Given the description of an element on the screen output the (x, y) to click on. 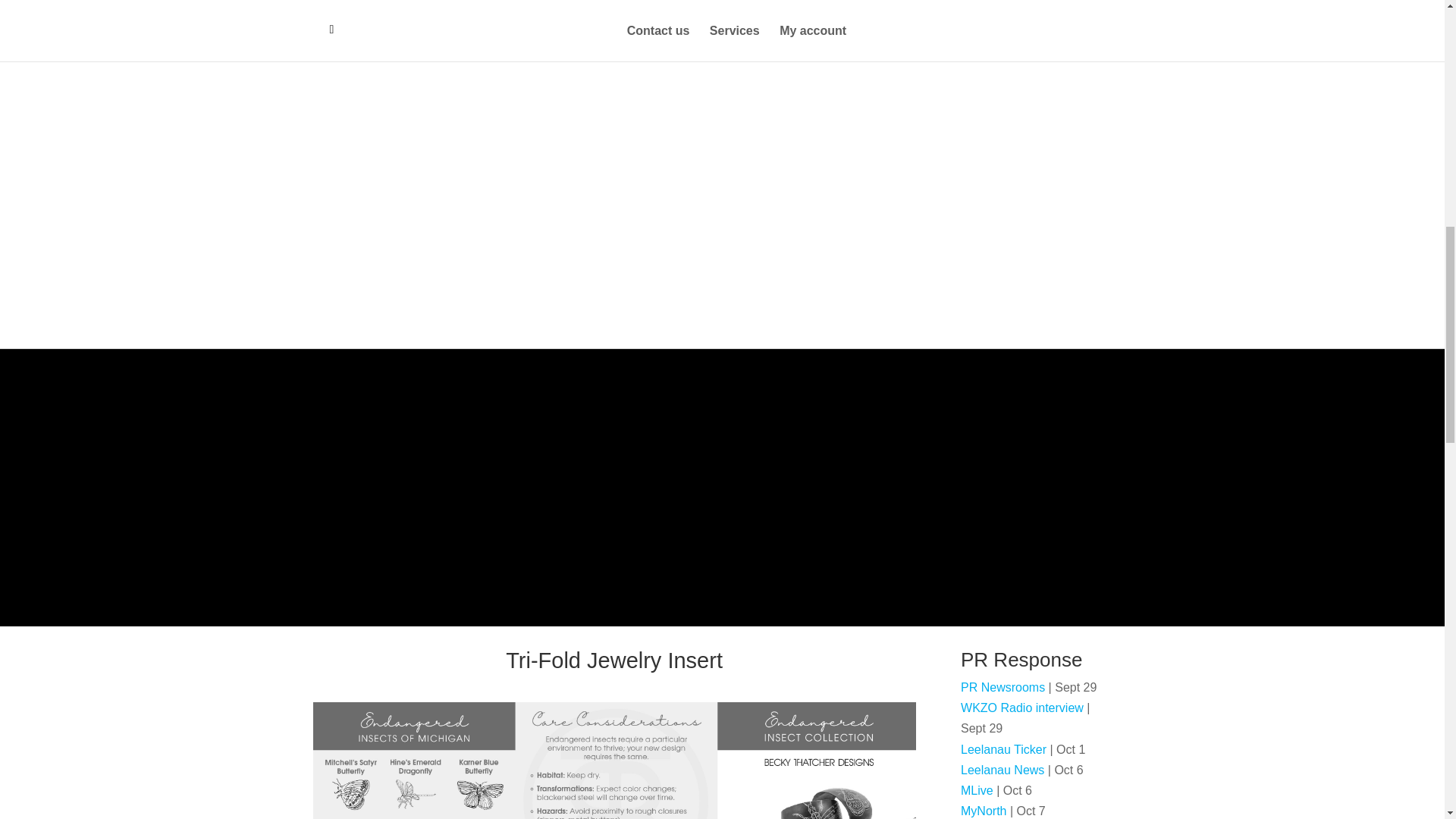
PR Newsrooms (1004, 686)
MyNorth (983, 810)
MLive (976, 789)
Leelanau Ticker (1004, 748)
WKZO Radio interview (1023, 707)
BTD-Insect-JewelryInsert-P2-2 (614, 760)
Leelanau News (1001, 769)
